Given the description of an element on the screen output the (x, y) to click on. 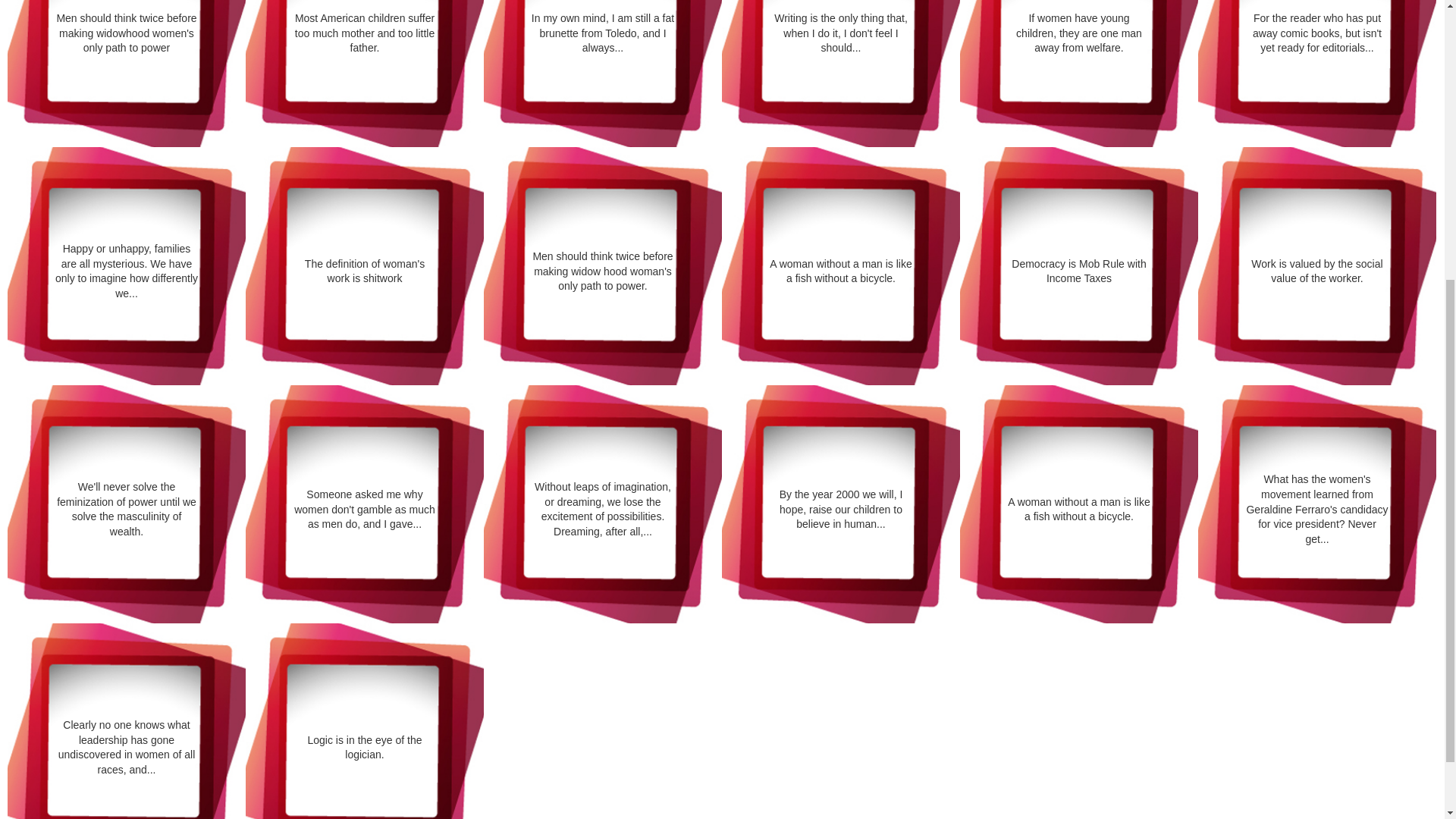
Democracy is Mob Rule with Income Taxes (1078, 271)
Work is valued by the social value of the worker. (1317, 271)
A woman without a man is like a fish without a bicycle. (841, 271)
A woman without a man is like a fish without a bicycle. (1078, 509)
The definition of woman's work is shitwork (364, 271)
